Given the description of an element on the screen output the (x, y) to click on. 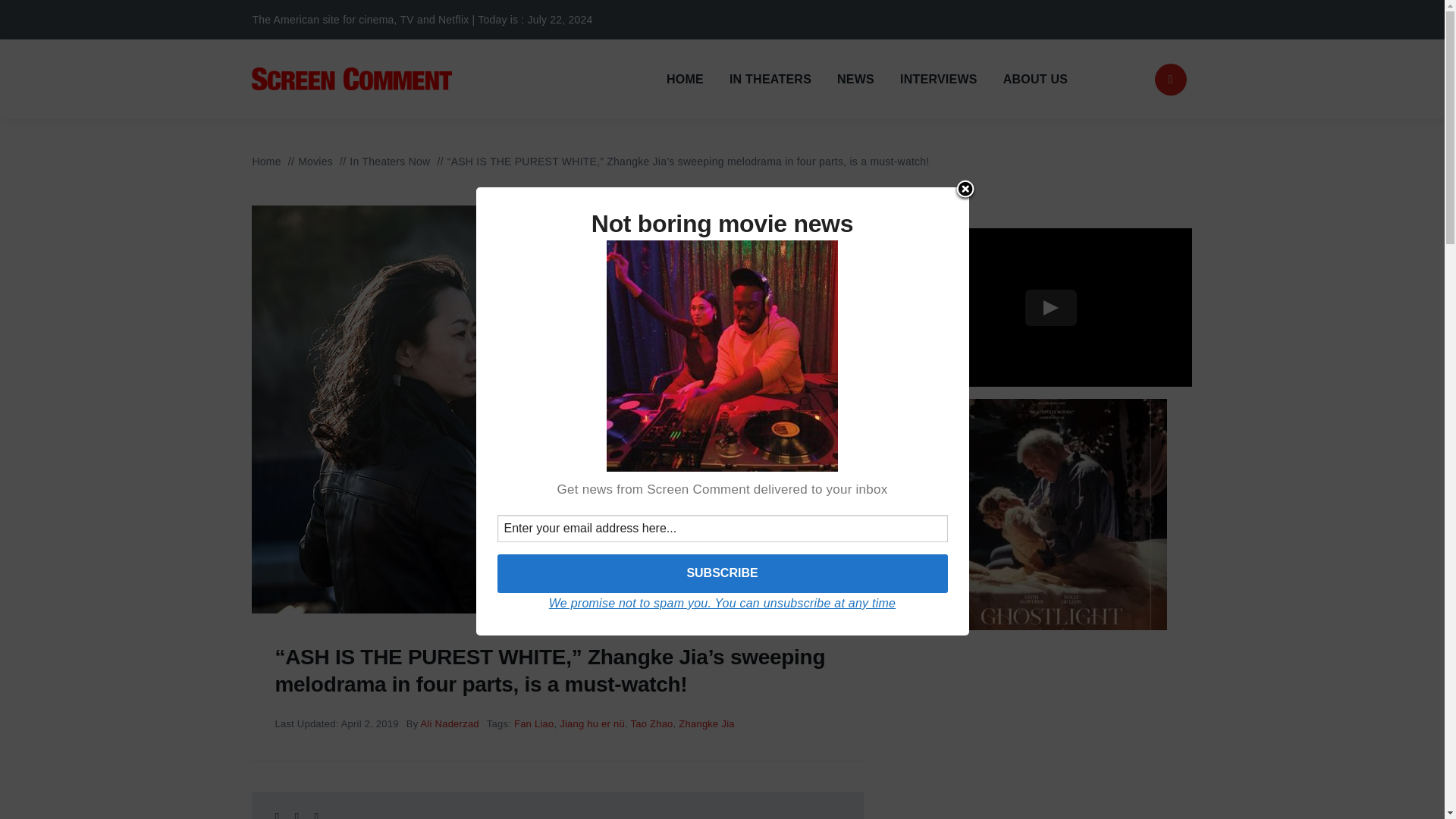
Zhangke Jia (705, 723)
ABOUT US (1035, 78)
Movies (315, 161)
Play (1051, 307)
Take Action Now! (243, 19)
Ali Naderzad (449, 723)
Tao Zhao (651, 723)
IN THEATERS (769, 78)
Subscribe (722, 573)
Fan Liao (533, 723)
YouTube video player 1 (1051, 307)
INTERVIEWS (937, 78)
Subscribe (722, 573)
Home (266, 161)
Posts by Ali Naderzad (449, 723)
